Given the description of an element on the screen output the (x, y) to click on. 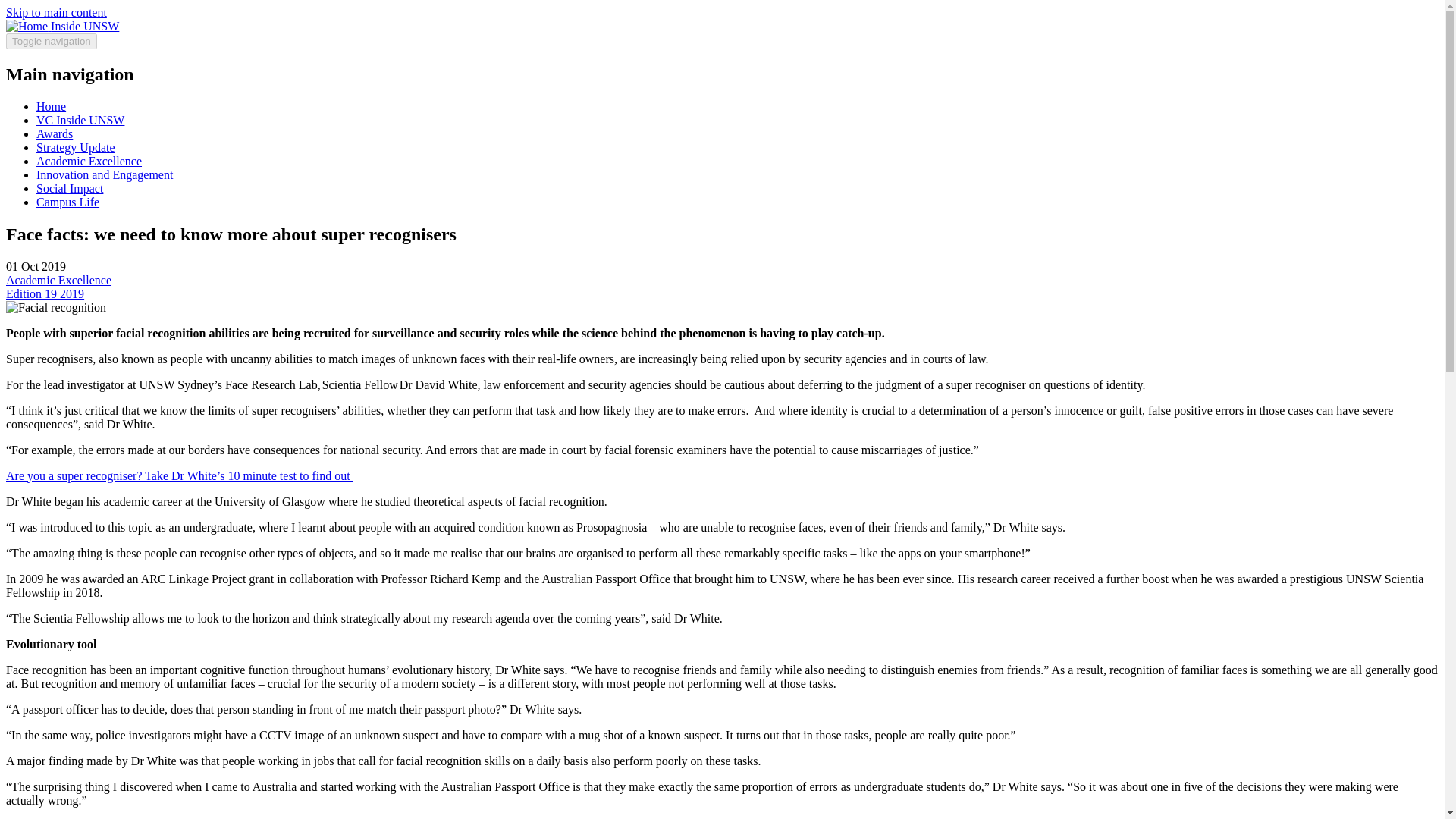
Strategy Update (75, 146)
Toggle navigation (51, 41)
Academic Excellence (58, 279)
Home (27, 25)
Awards (54, 133)
Innovation and Engagement (104, 174)
Inside UNSW (84, 25)
Academic Excellence (88, 160)
Edition 19 2019 (44, 293)
VC Inside UNSW (79, 119)
